Given the description of an element on the screen output the (x, y) to click on. 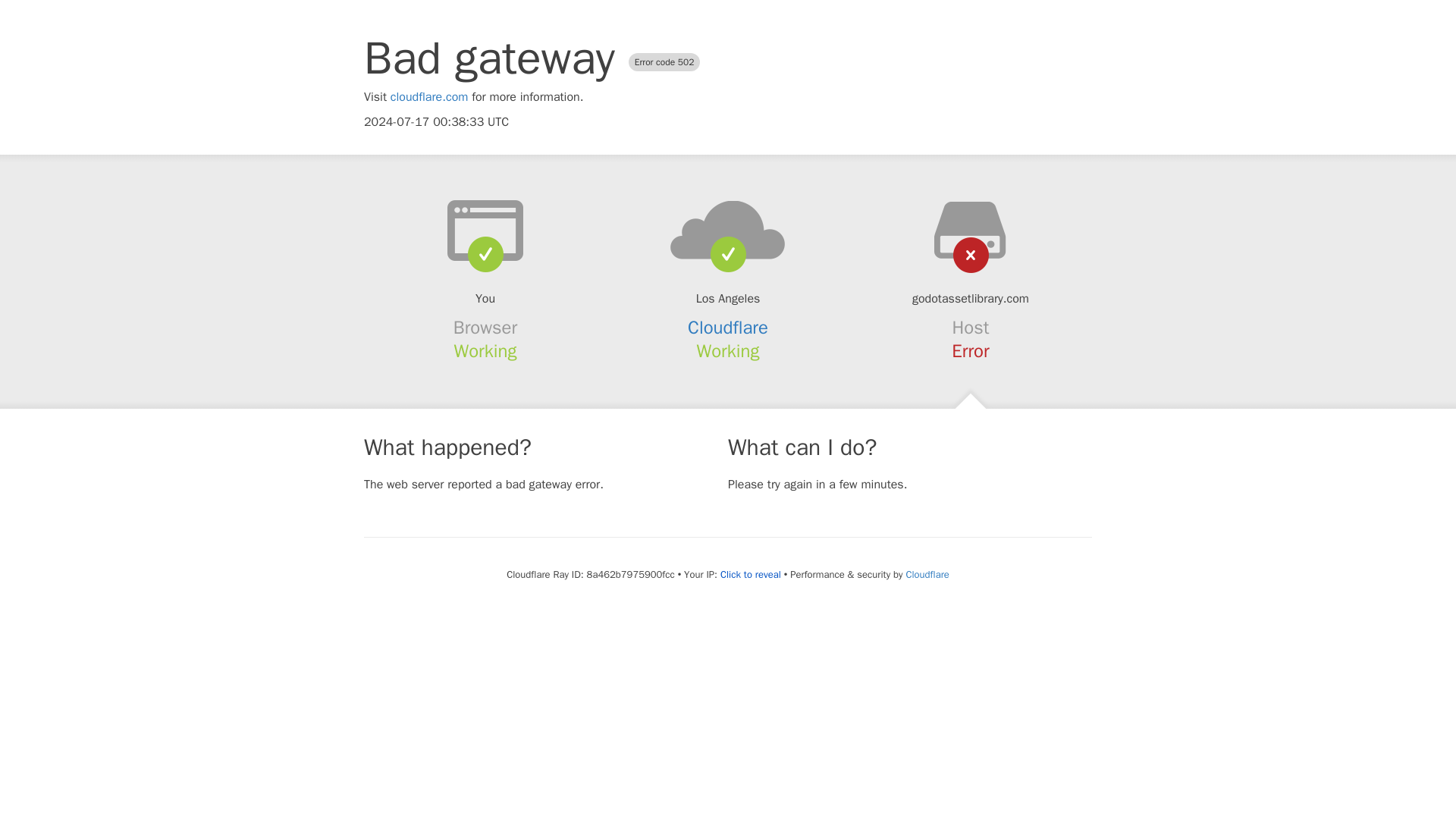
Click to reveal (750, 574)
Cloudflare (927, 574)
cloudflare.com (429, 96)
Cloudflare (727, 327)
